Given the description of an element on the screen output the (x, y) to click on. 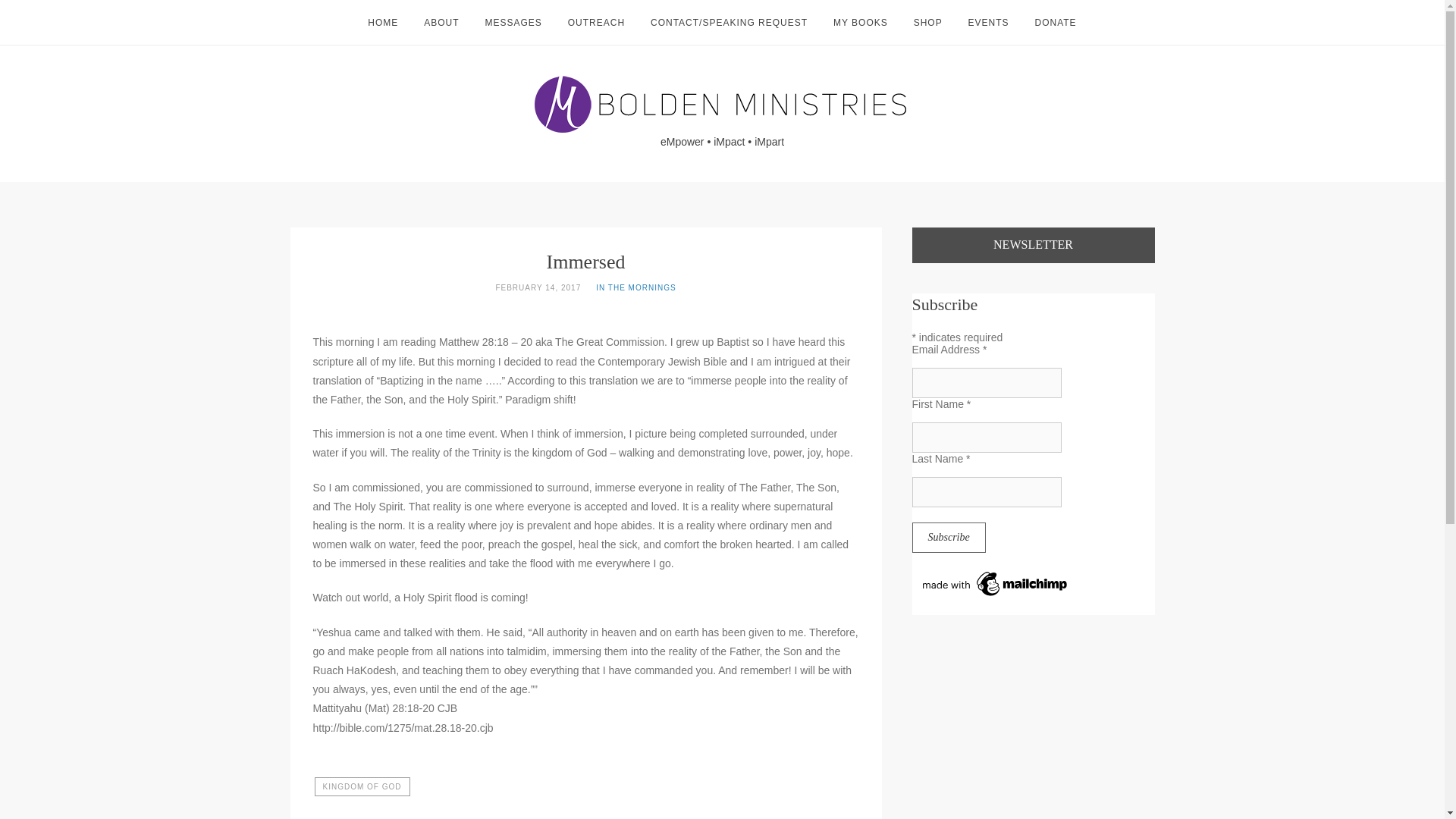
FEBRUARY 14, 2017 (537, 287)
HOME (382, 22)
MY BOOKS (860, 22)
KINGDOM OF GOD (361, 786)
DONATE (1054, 22)
ABOUT (440, 22)
Mailchimp - email marketing made easy and fun (994, 593)
SHOP (928, 22)
OUTREACH (595, 22)
IN THE MORNINGS (635, 287)
